Given the description of an element on the screen output the (x, y) to click on. 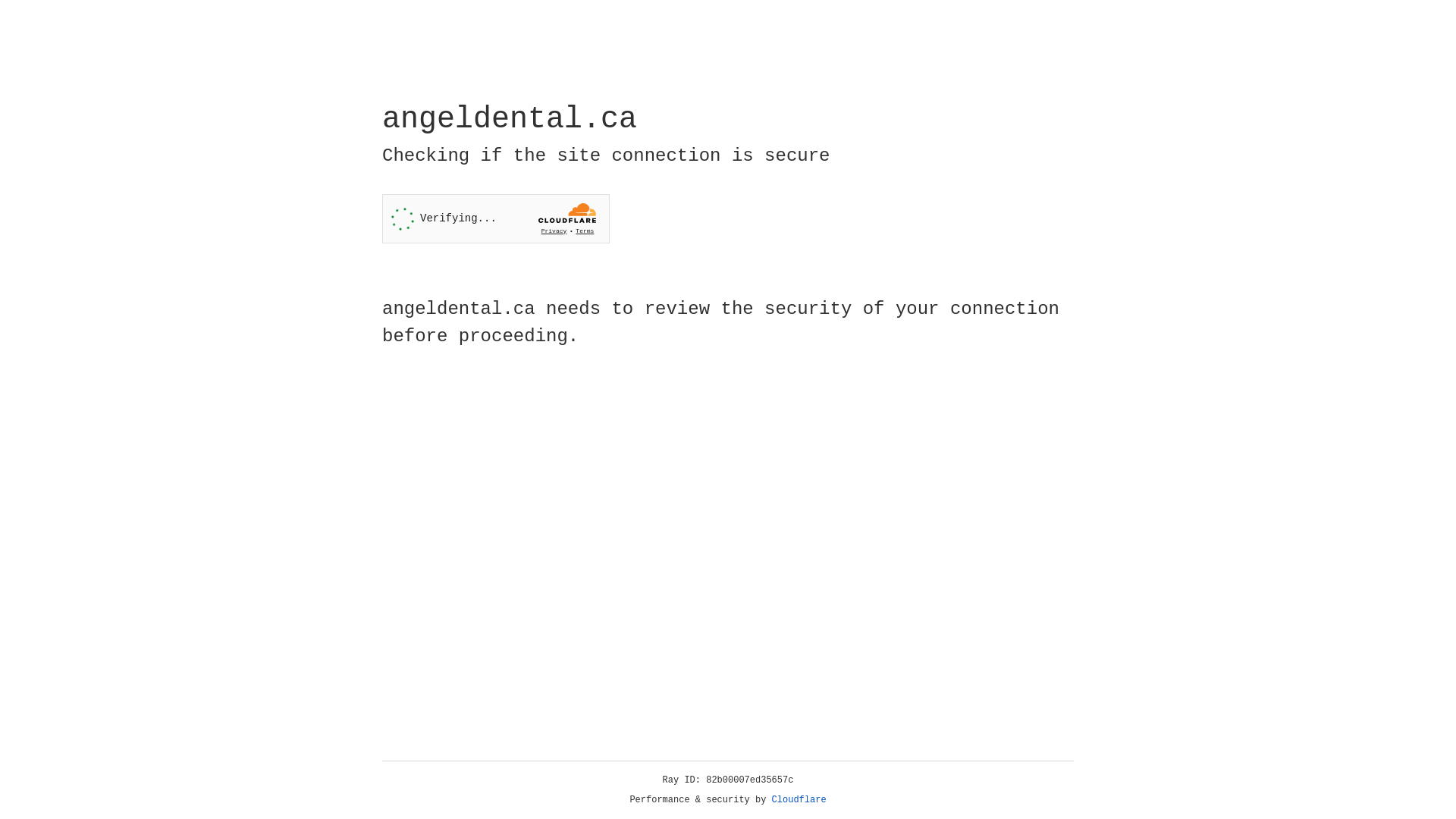
Cloudflare Element type: text (798, 799)
Widget containing a Cloudflare security challenge Element type: hover (495, 218)
